Given the description of an element on the screen output the (x, y) to click on. 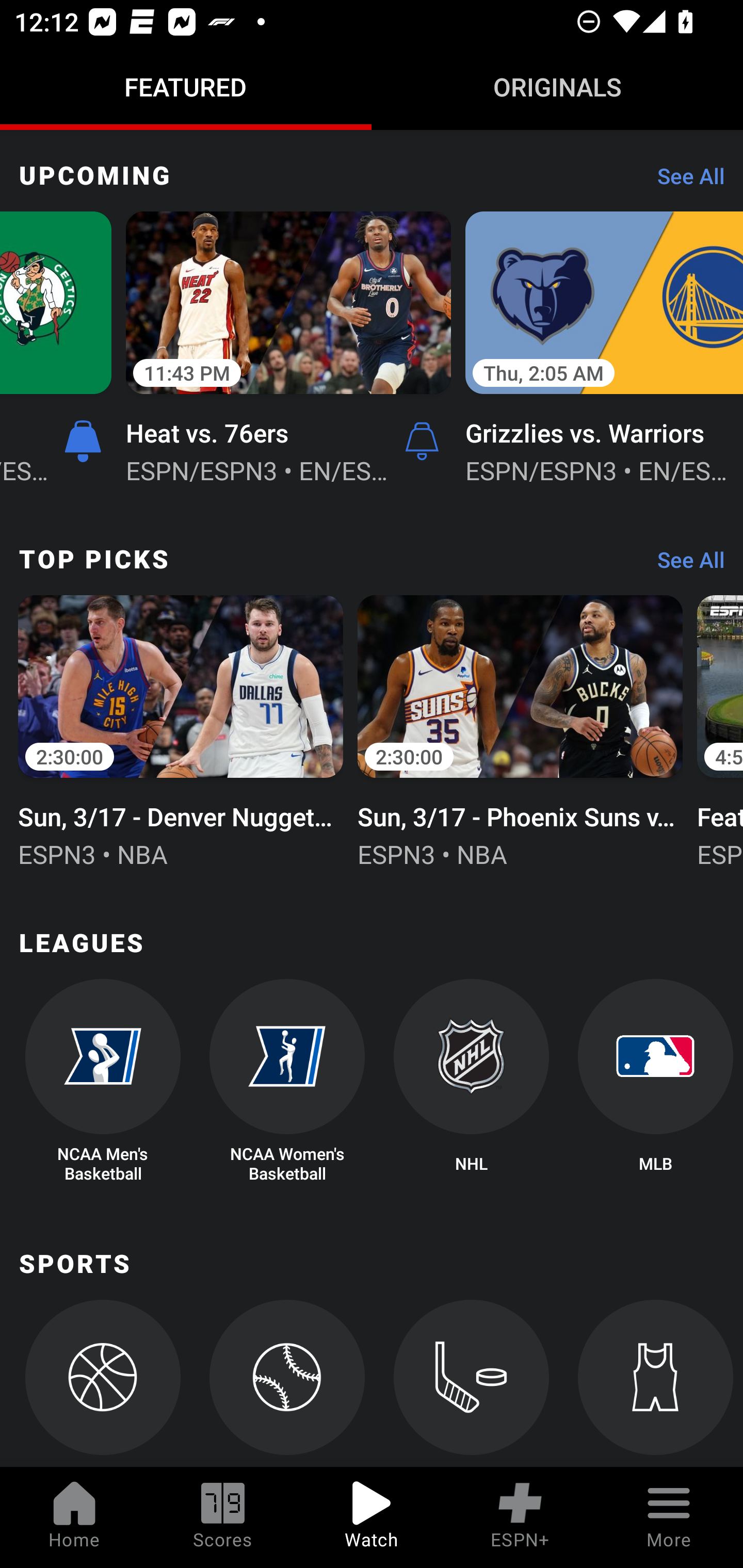
Originals ORIGINALS (557, 86)
See All (683, 180)
Alerts (422, 441)
See All (683, 564)
NCAA Men's Basketball (102, 1081)
NCAA Women's Basketball (286, 1081)
NHL (471, 1081)
MLB (655, 1081)
Basketball (102, 1383)
Baseball (286, 1383)
Hockey (471, 1383)
Wrestling (655, 1383)
Home (74, 1517)
Scores (222, 1517)
ESPN+ (519, 1517)
More (668, 1517)
